Given the description of an element on the screen output the (x, y) to click on. 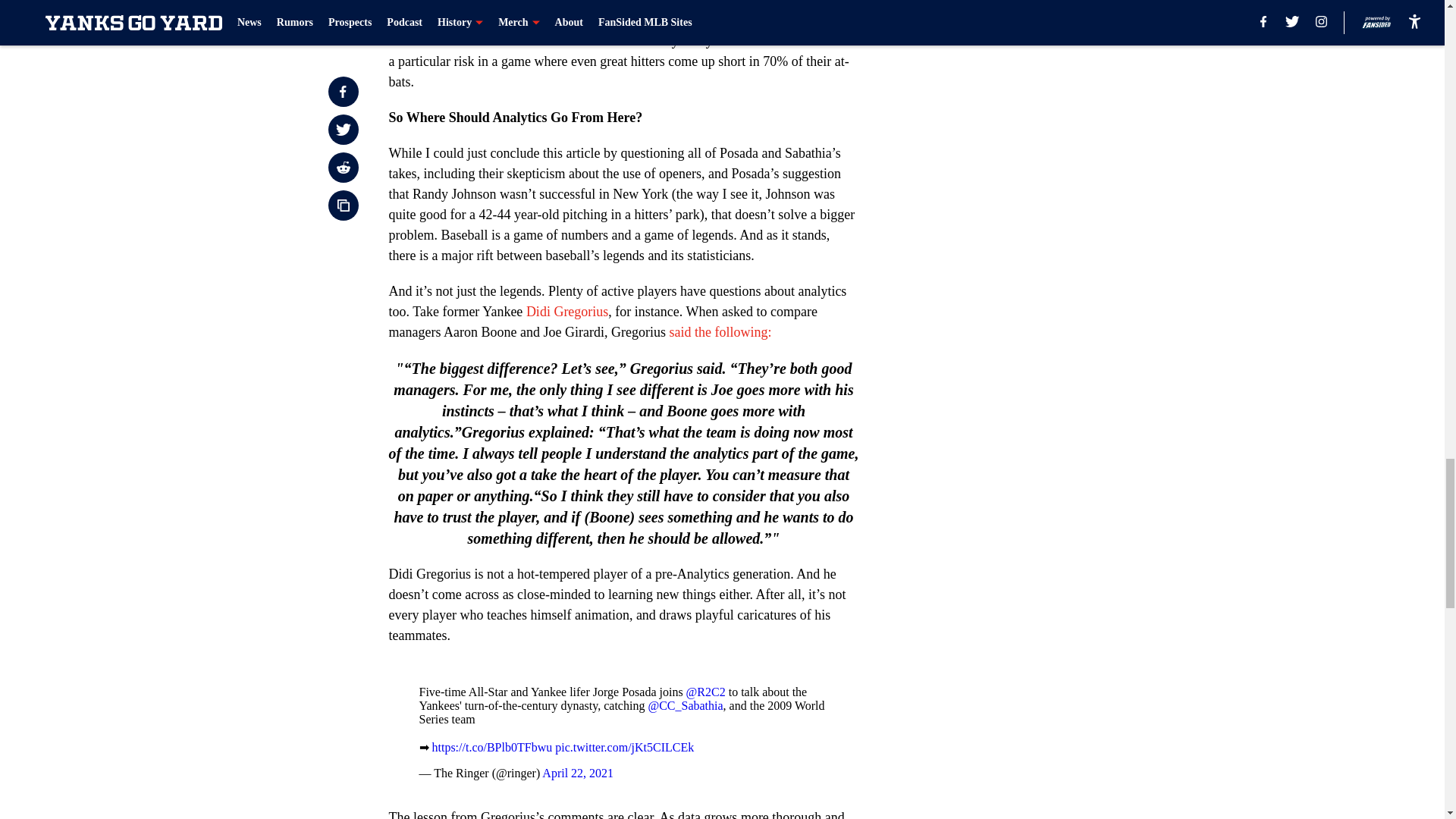
said the following: (719, 331)
April 22, 2021 (576, 772)
Didi Gregorius (566, 311)
